Given the description of an element on the screen output the (x, y) to click on. 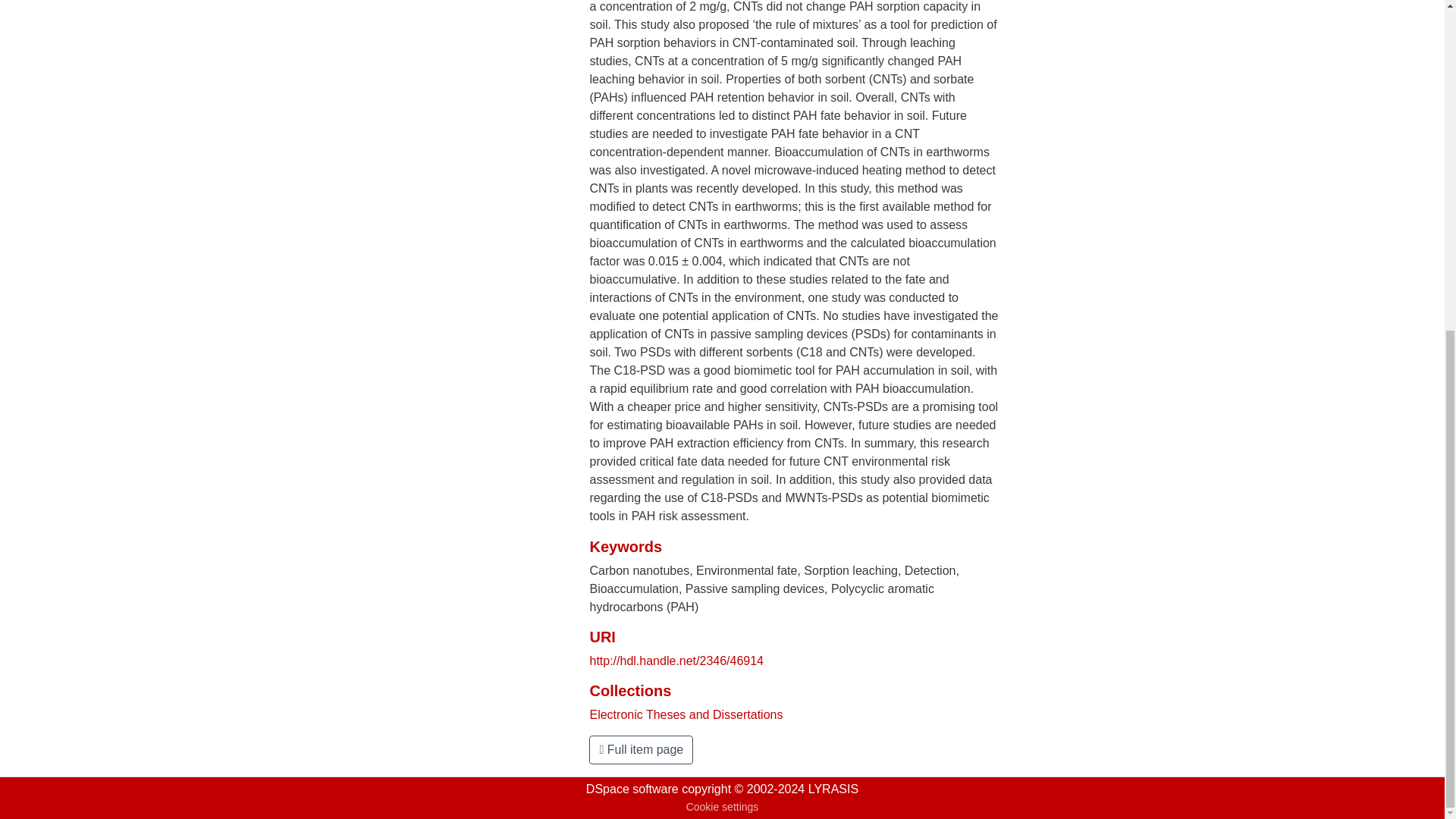
Electronic Theses and Dissertations (686, 714)
Cookie settings (722, 806)
Full item page (641, 749)
LYRASIS (833, 788)
DSpace software (632, 788)
